Given the description of an element on the screen output the (x, y) to click on. 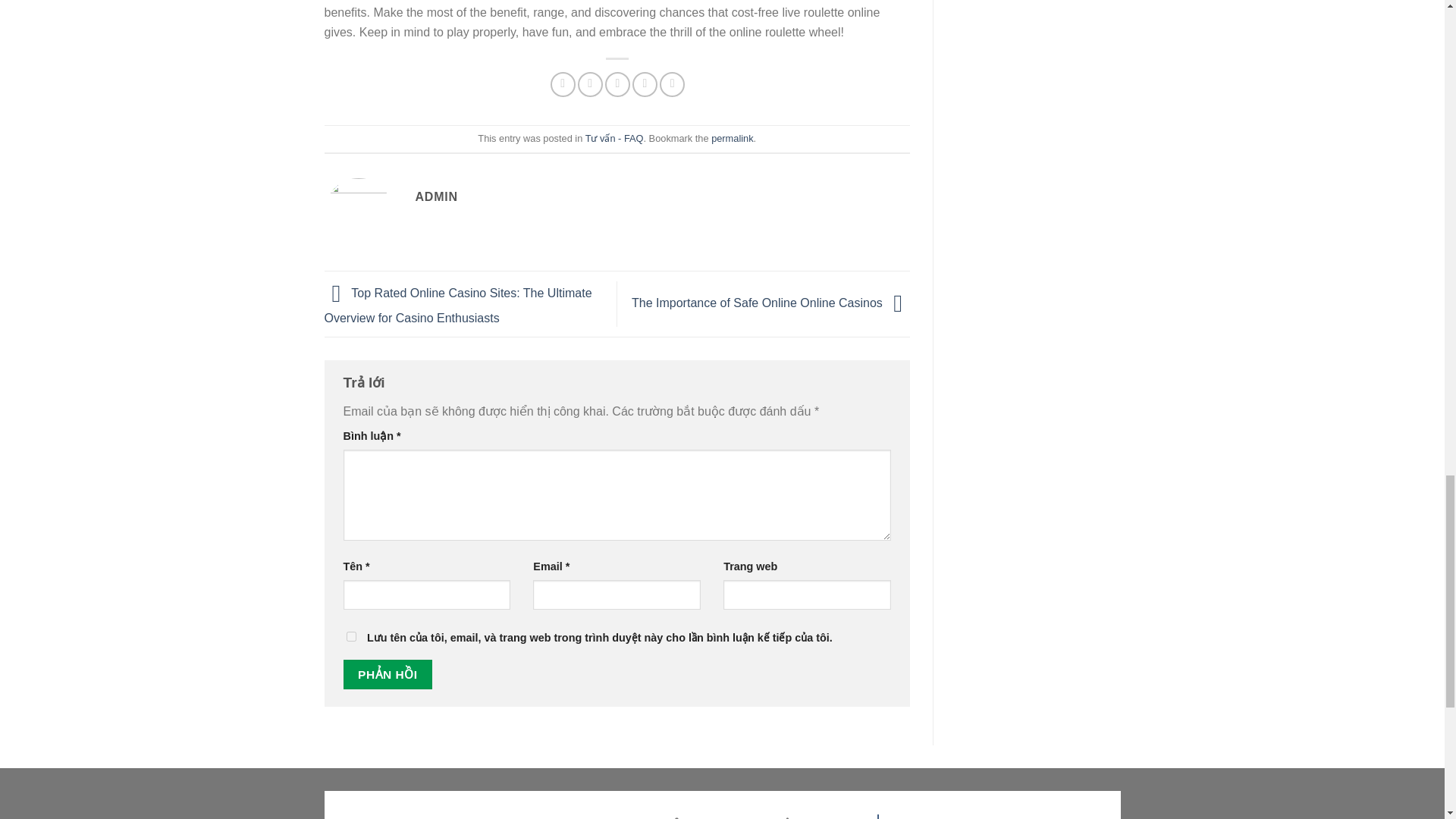
Share on Twitter (590, 84)
Share on Facebook (562, 84)
Pin on Pinterest (644, 84)
Share on LinkedIn (671, 84)
yes (350, 636)
permalink (731, 138)
Email to a Friend (617, 84)
